Given the description of an element on the screen output the (x, y) to click on. 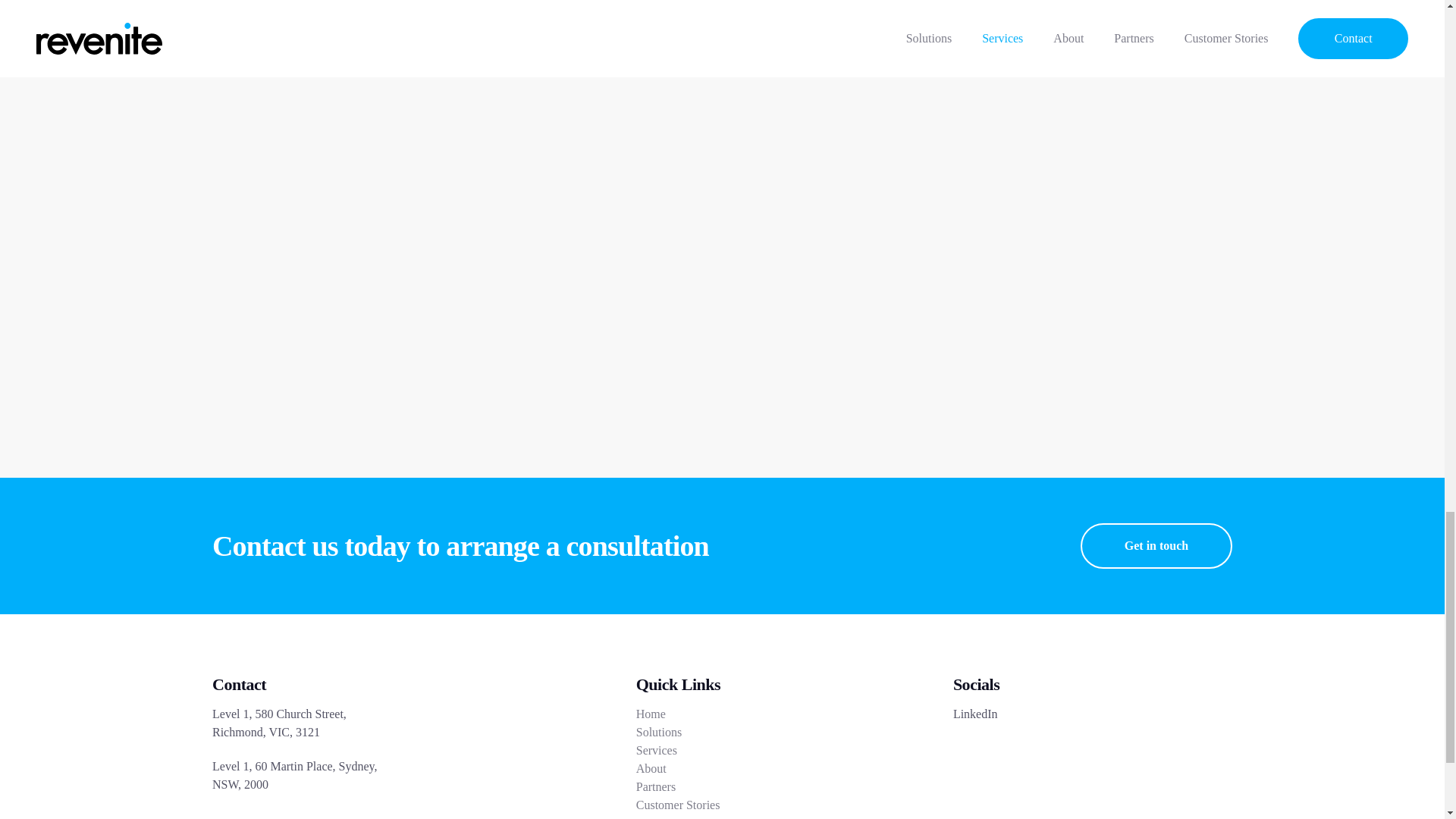
Services (656, 751)
Solutions (658, 732)
Home (650, 714)
Customer Stories (678, 805)
Contact (655, 816)
Level 1, 580 Church Street, Richmond, VIC, 3121 (307, 723)
Get in touch (1155, 545)
LinkedIn (975, 714)
Partners (655, 787)
About (651, 769)
